Given the description of an element on the screen output the (x, y) to click on. 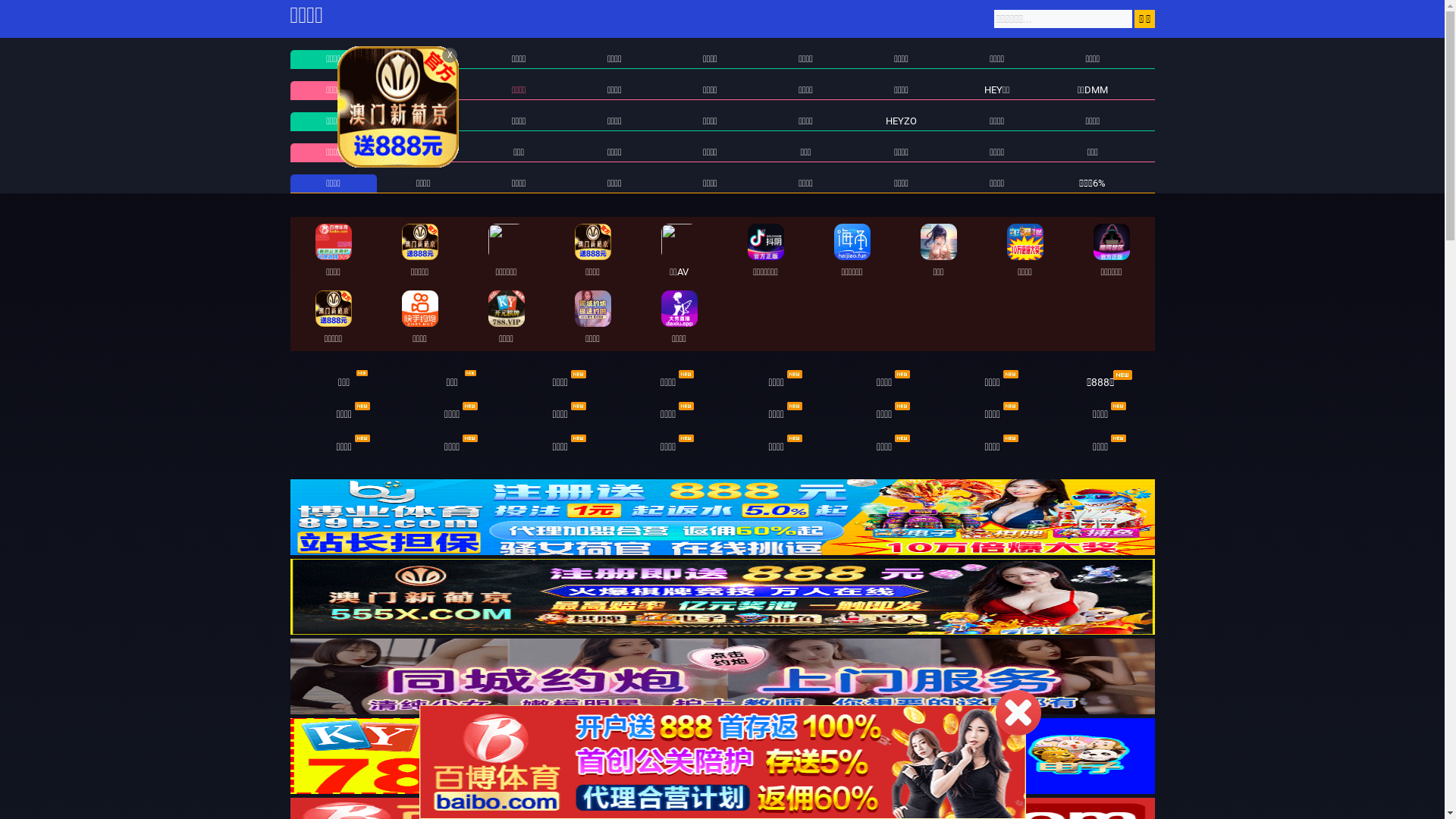
HEYZO Element type: text (900, 120)
